Given the description of an element on the screen output the (x, y) to click on. 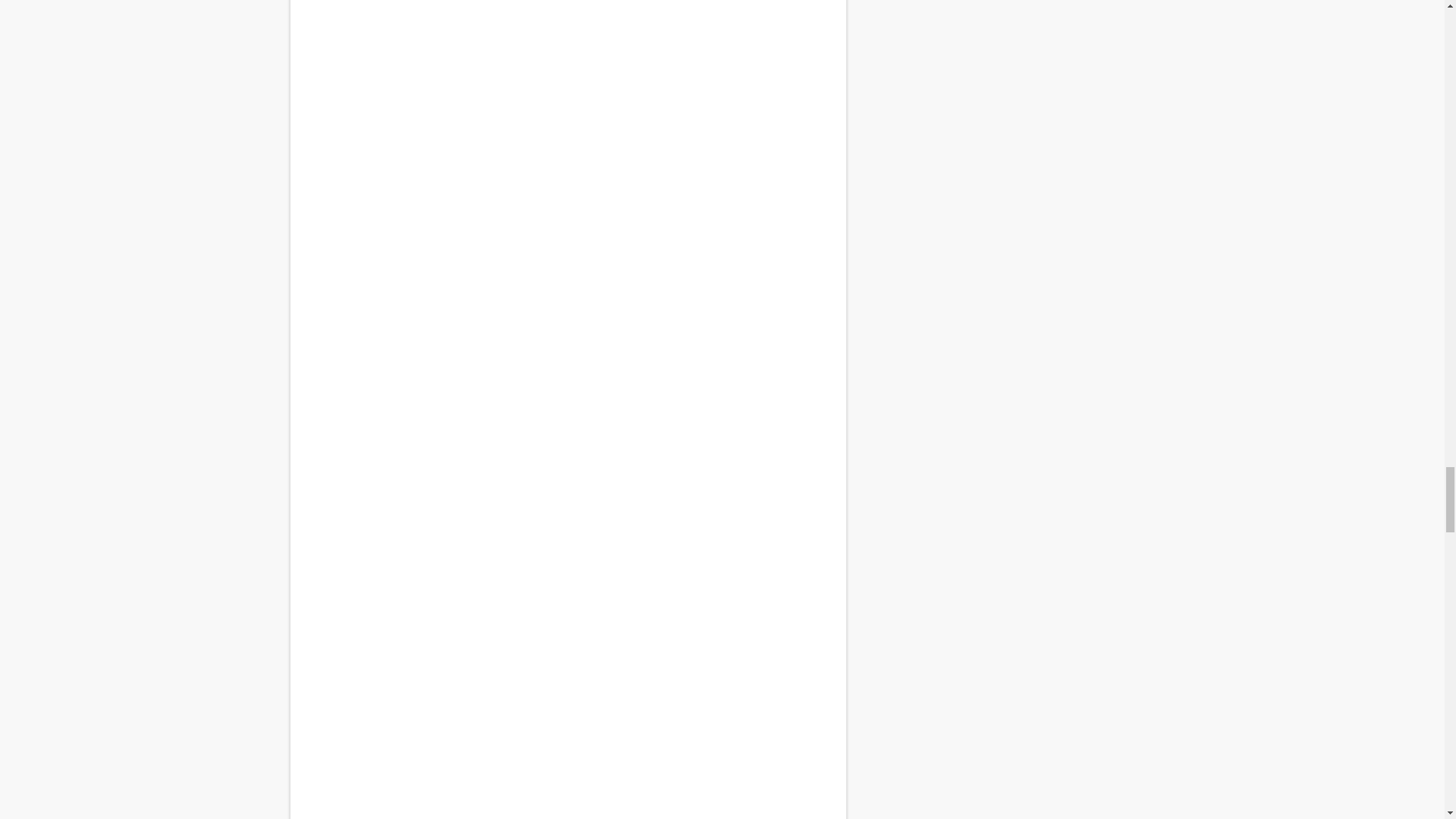
Most Searched Words (567, 611)
Words Everyday (567, 51)
